Given the description of an element on the screen output the (x, y) to click on. 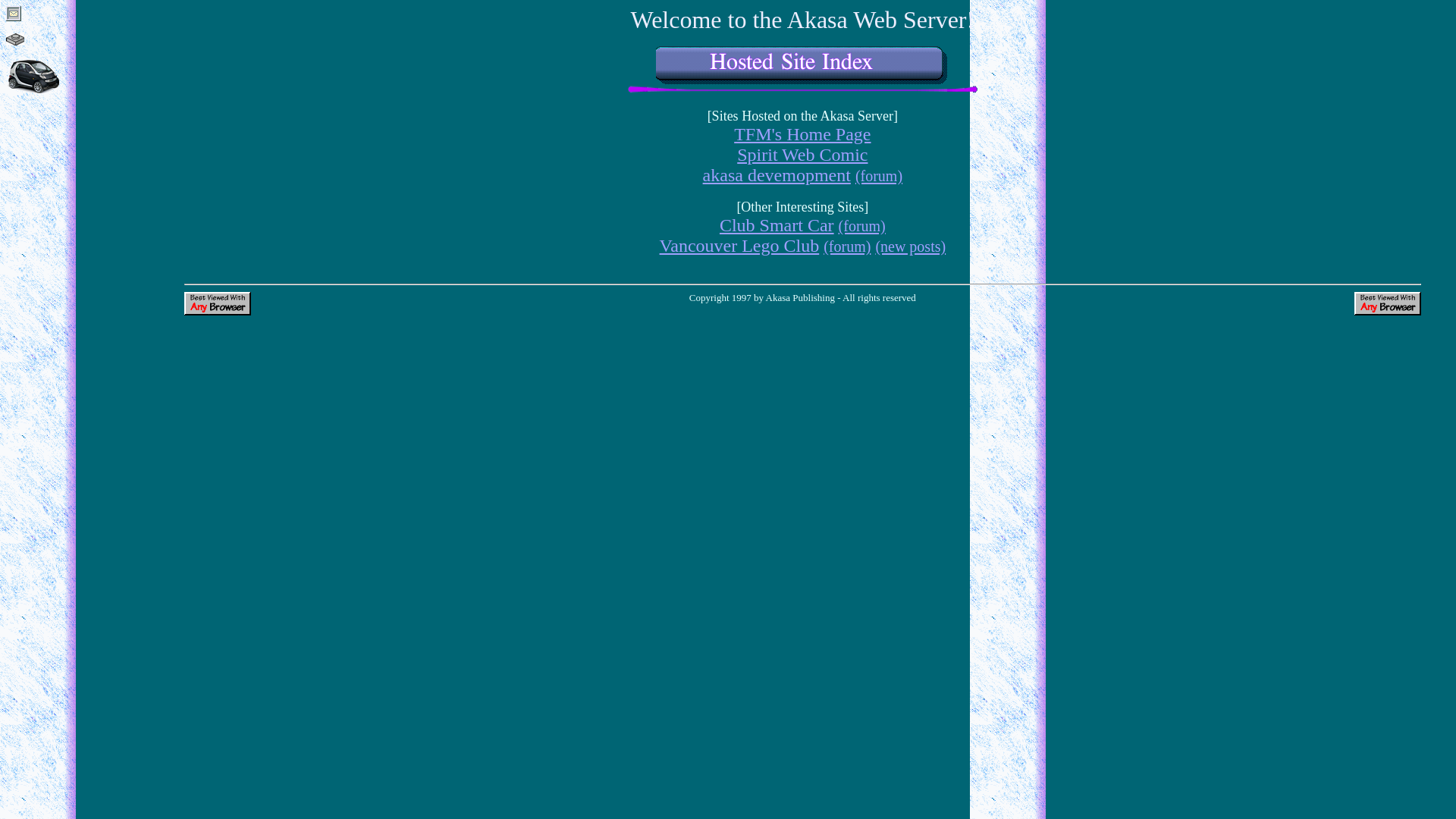
Club Smart Car Element type: text (776, 225)
(forum) Element type: text (861, 225)
Spirit Web Comic Element type: text (802, 154)
Vancouver Lego Club Element type: text (739, 245)
(forum) Element type: text (878, 175)
(new posts) Element type: text (910, 245)
TFM's Home Page Element type: text (802, 134)
akasa devemopment Element type: text (776, 175)
(forum) Element type: text (846, 245)
